Given the description of an element on the screen output the (x, y) to click on. 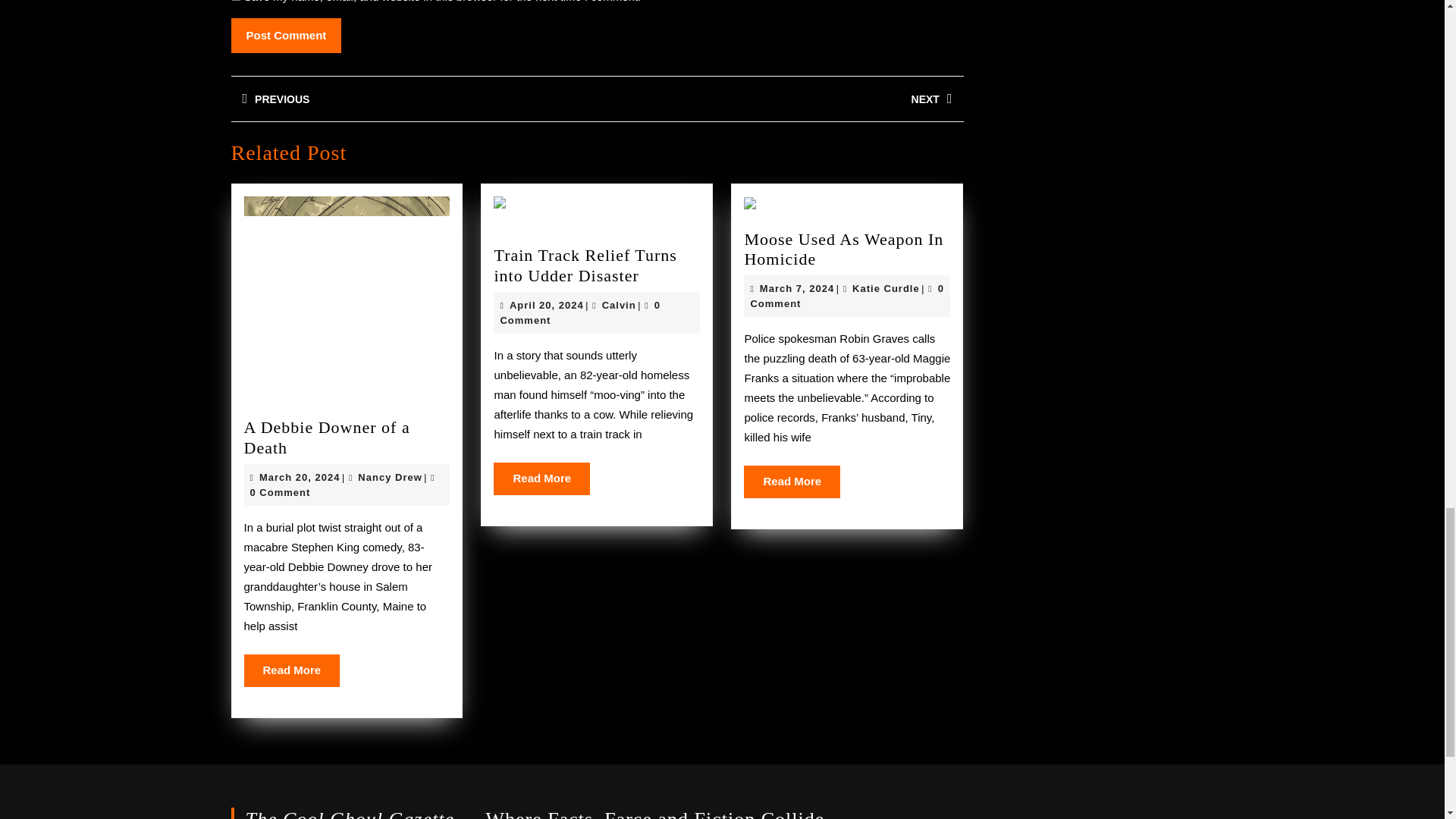
Post Comment (285, 36)
